Given the description of an element on the screen output the (x, y) to click on. 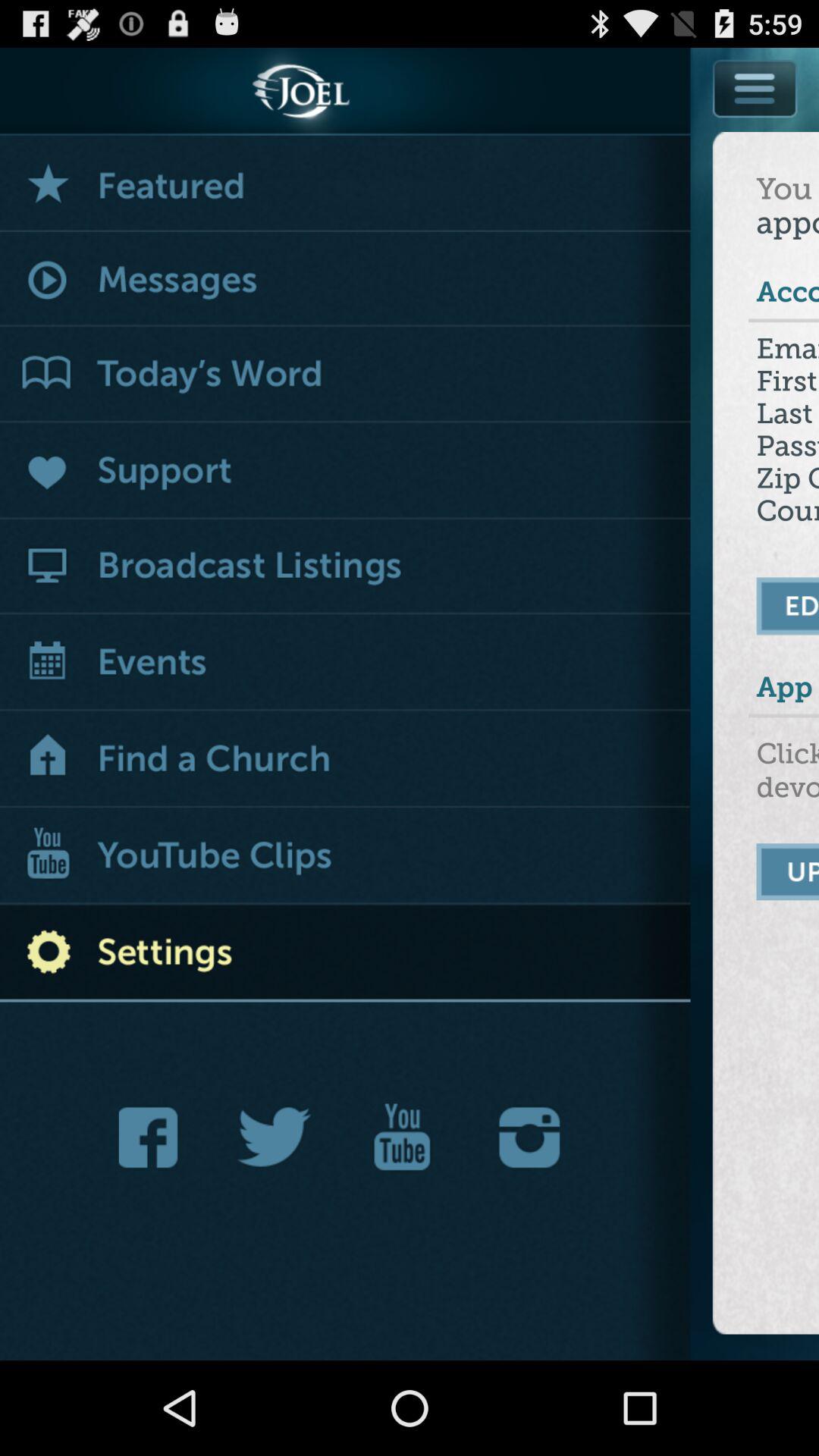
see new messages (345, 280)
